Given the description of an element on the screen output the (x, y) to click on. 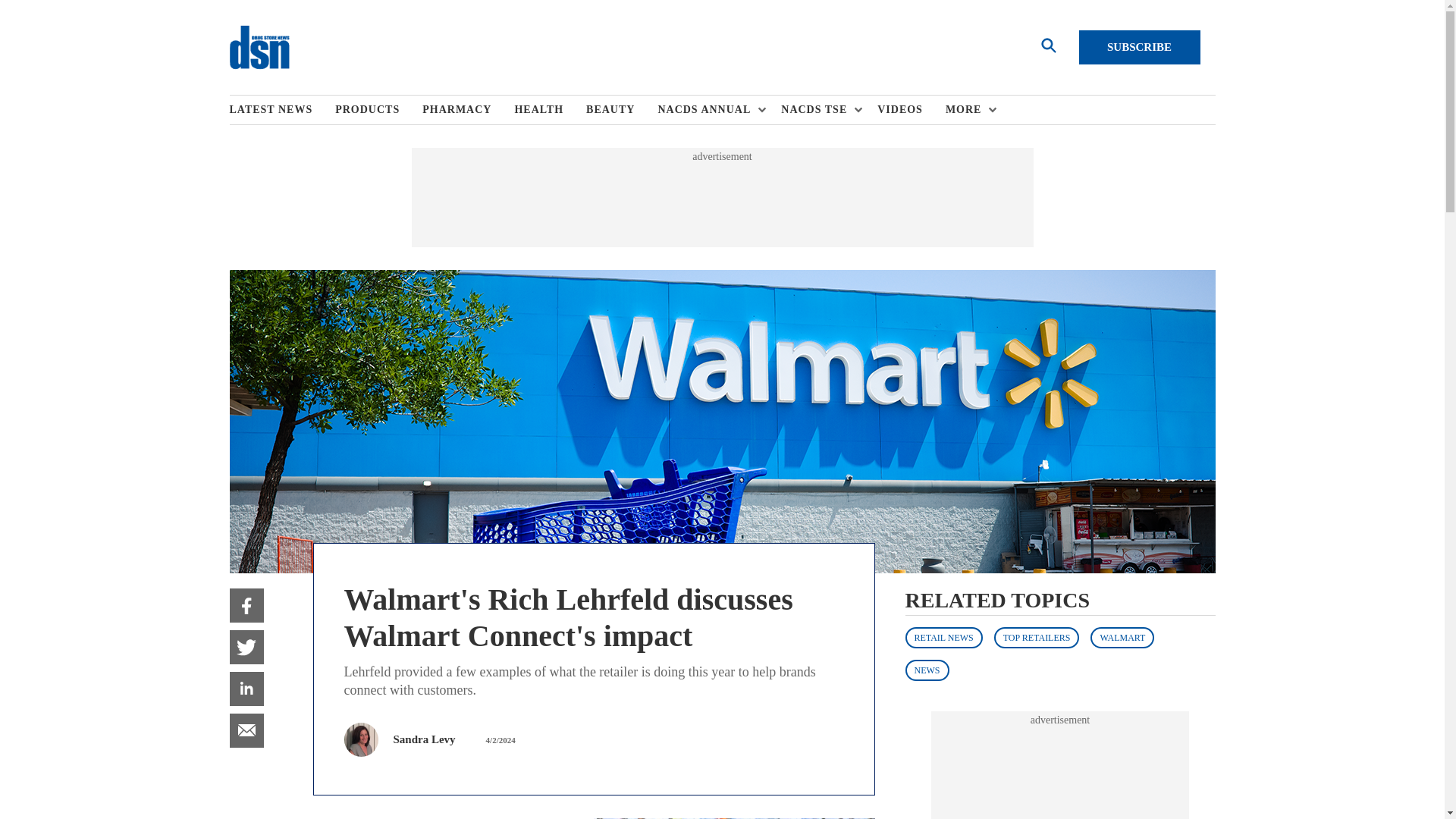
3rd party ad content (1059, 773)
Sandra Levy (423, 739)
NACDS TSE (817, 109)
VIDEOS (910, 109)
3rd party ad content (721, 197)
facebook (245, 605)
twitter (245, 646)
PHARMACY (467, 109)
linkedIn (245, 688)
linkedIn (245, 688)
